Given the description of an element on the screen output the (x, y) to click on. 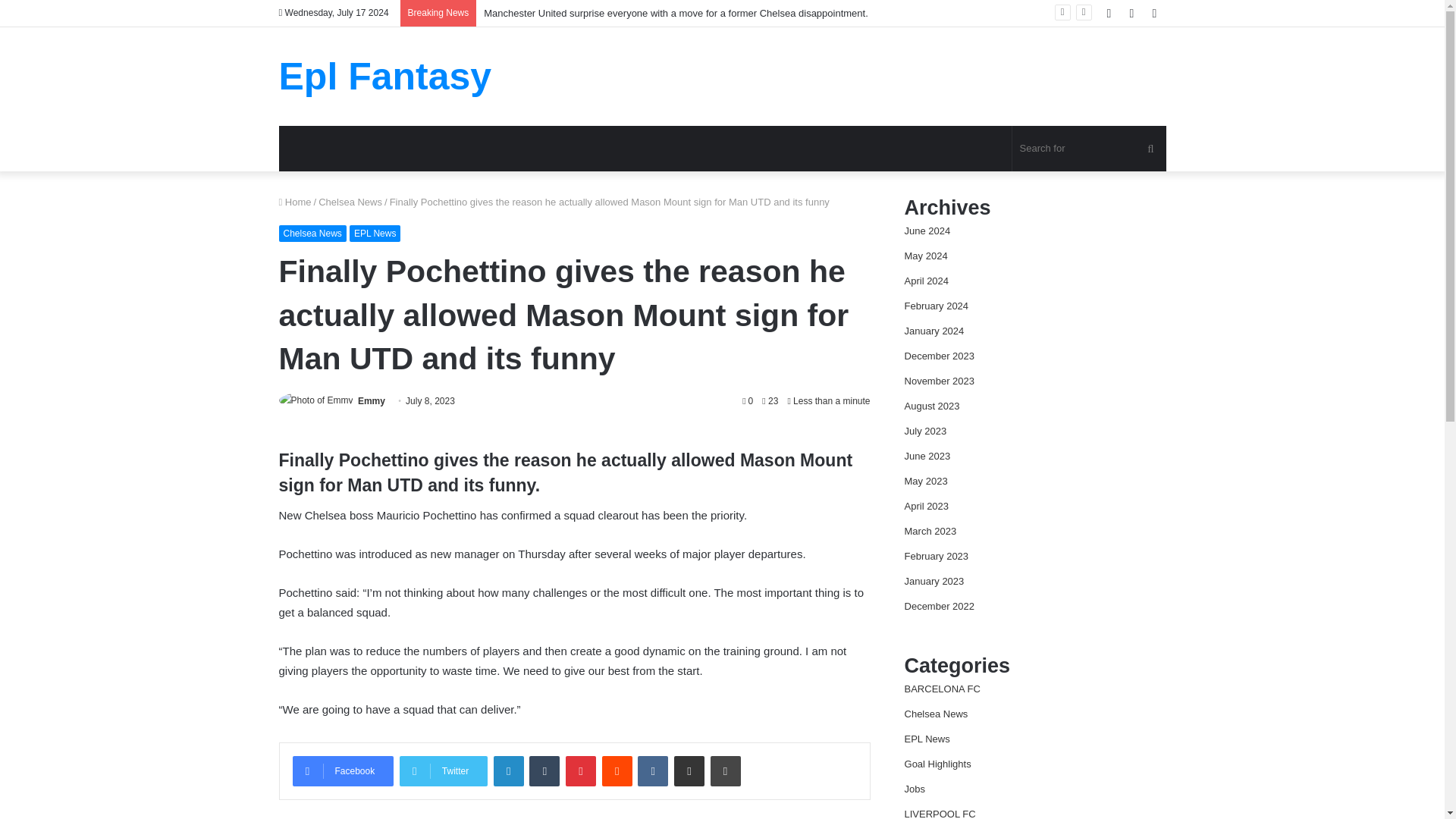
Facebook (343, 770)
Search for (1088, 148)
Tumblr (544, 770)
Share via Email (689, 770)
Reddit (616, 770)
VKontakte (652, 770)
Epl Fantasy (385, 76)
Pinterest (580, 770)
Epl Fantasy (385, 76)
LinkedIn (508, 770)
Print (725, 770)
Twitter (442, 770)
Twitter (442, 770)
Home (295, 202)
